Given the description of an element on the screen output the (x, y) to click on. 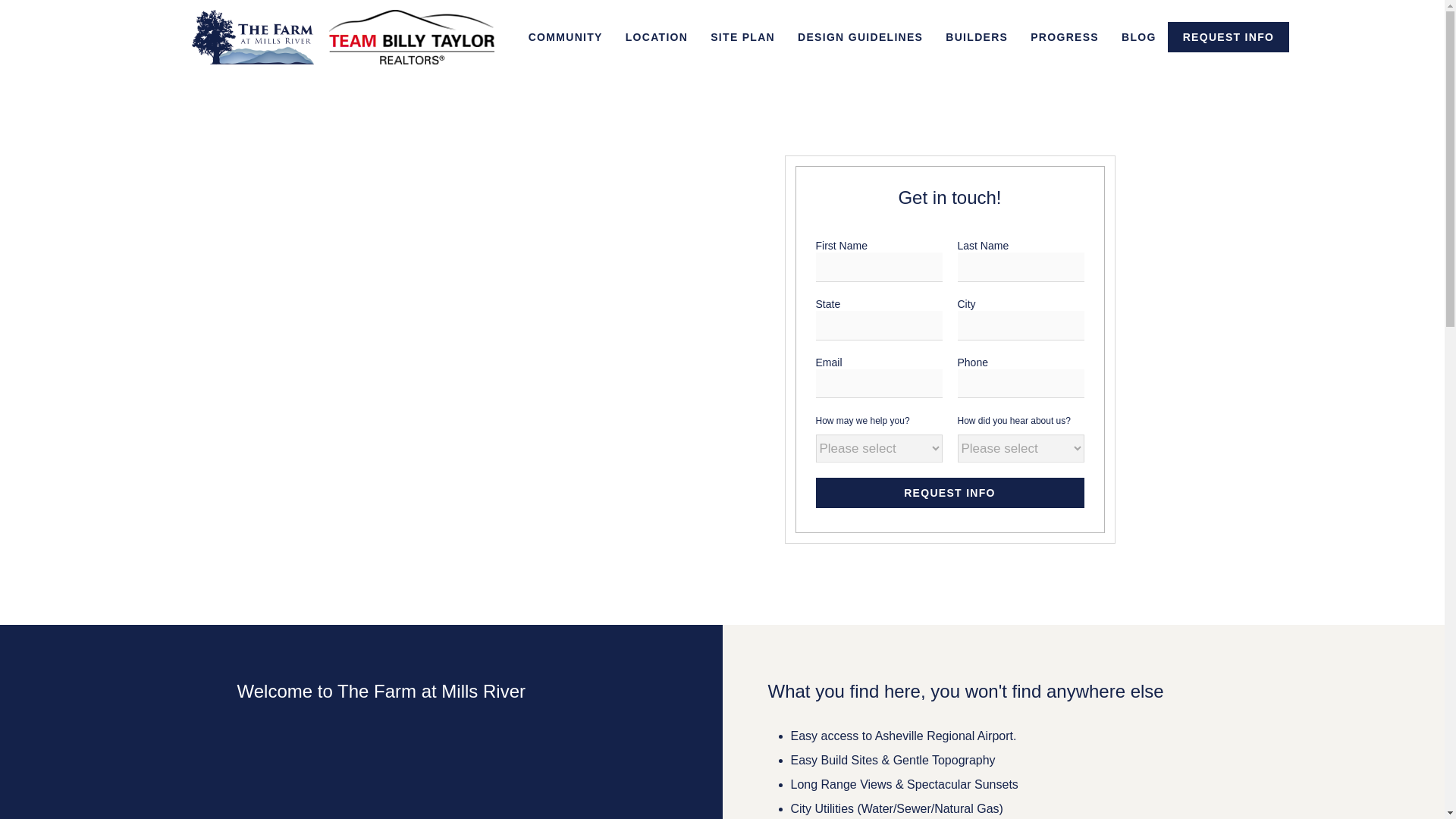
Request info (949, 492)
BUILDERS (976, 36)
DESIGN GUIDELINES (860, 36)
REQUEST INFO (1228, 37)
LOCATION (656, 36)
PROGRESS (1064, 36)
SITE PLAN (742, 36)
BLOG (1138, 36)
Request info (949, 492)
COMMUNITY (565, 36)
